Given the description of an element on the screen output the (x, y) to click on. 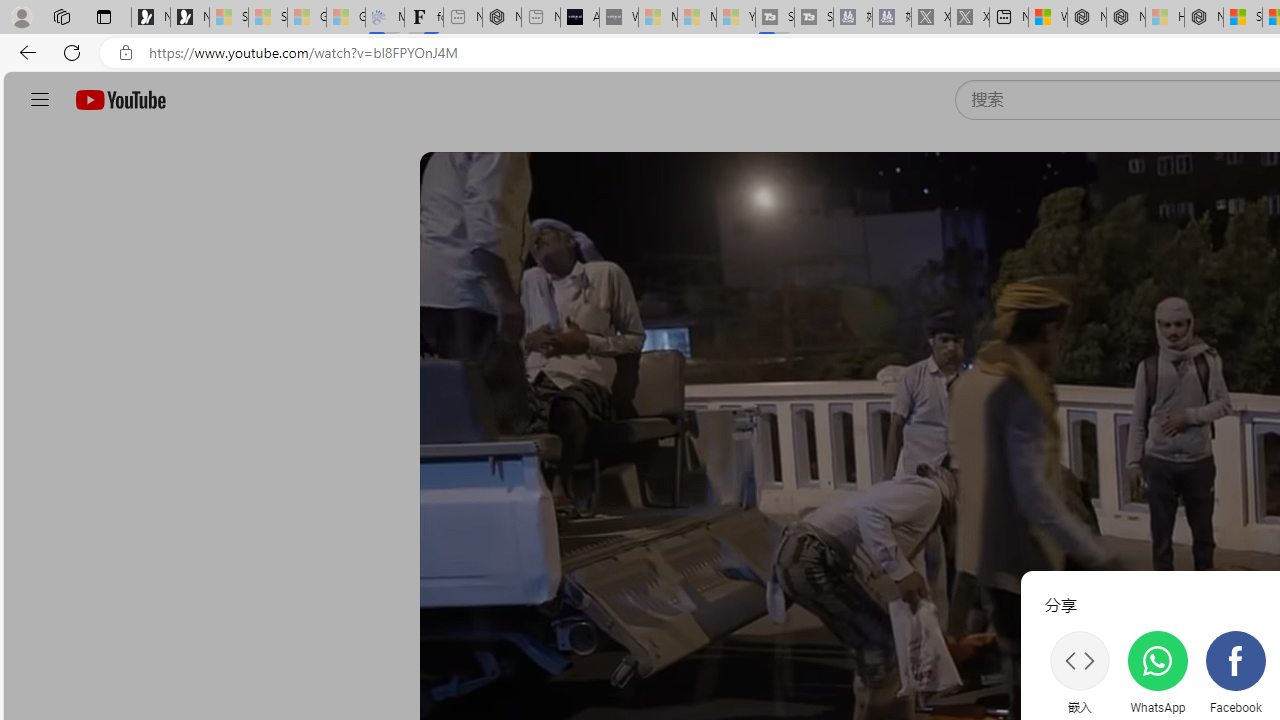
Nordace - Nordace Siena Is Not An Ordinary Backpack (1203, 17)
AI Voice Changer for PC and Mac - Voice.ai (579, 17)
What's the best AI voice generator? - voice.ai - Sleeping (618, 17)
Microsoft Start Sports - Sleeping (657, 17)
WhatsApp (1157, 672)
